Given the description of an element on the screen output the (x, y) to click on. 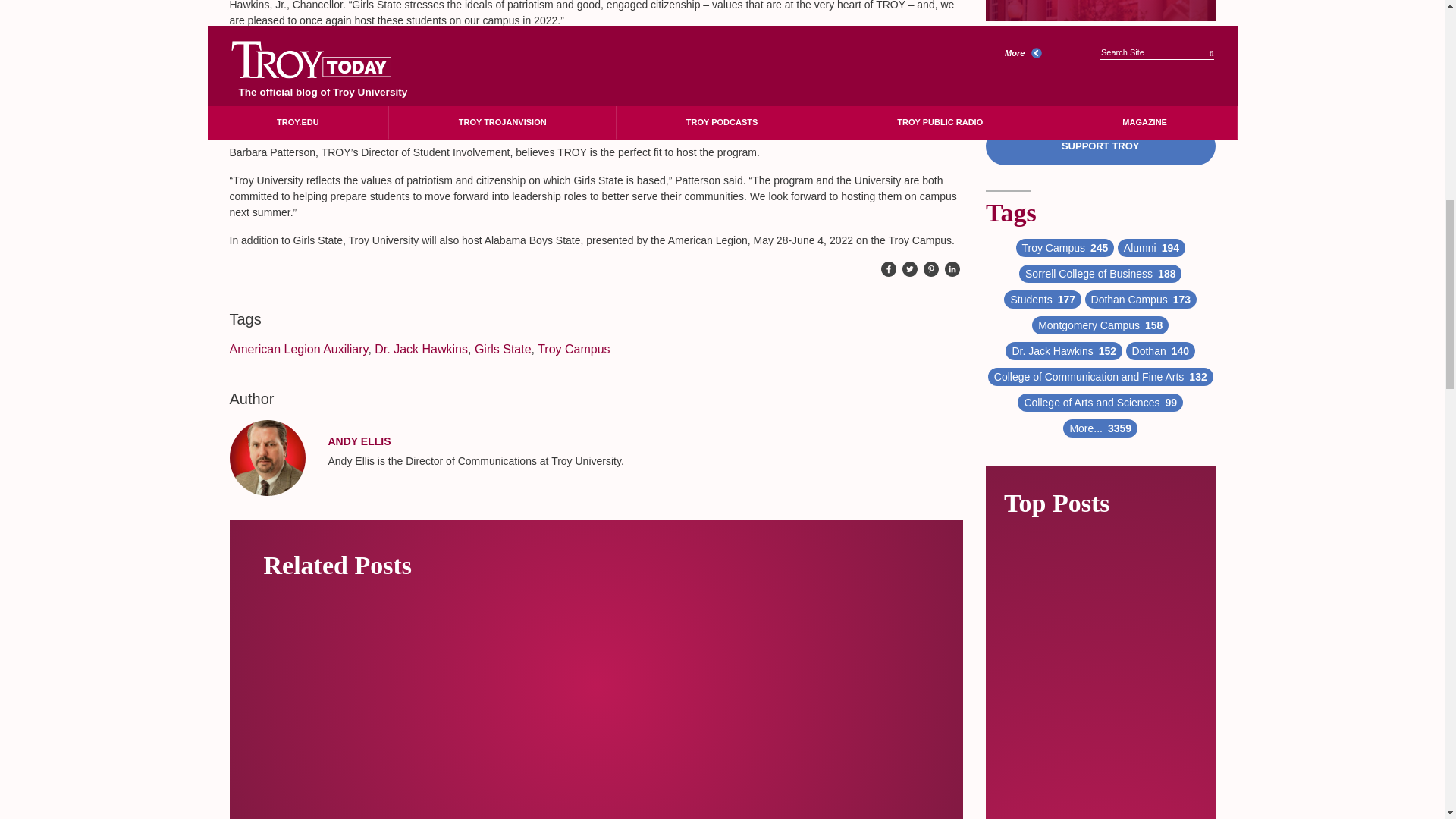
Dr. Jack Hawkins (420, 349)
Troy Campus (573, 349)
American Legion Auxiliary (298, 349)
Facebook (888, 270)
ANDY ELLIS (358, 440)
Girls State (502, 349)
Twitter (909, 270)
